Given the description of an element on the screen output the (x, y) to click on. 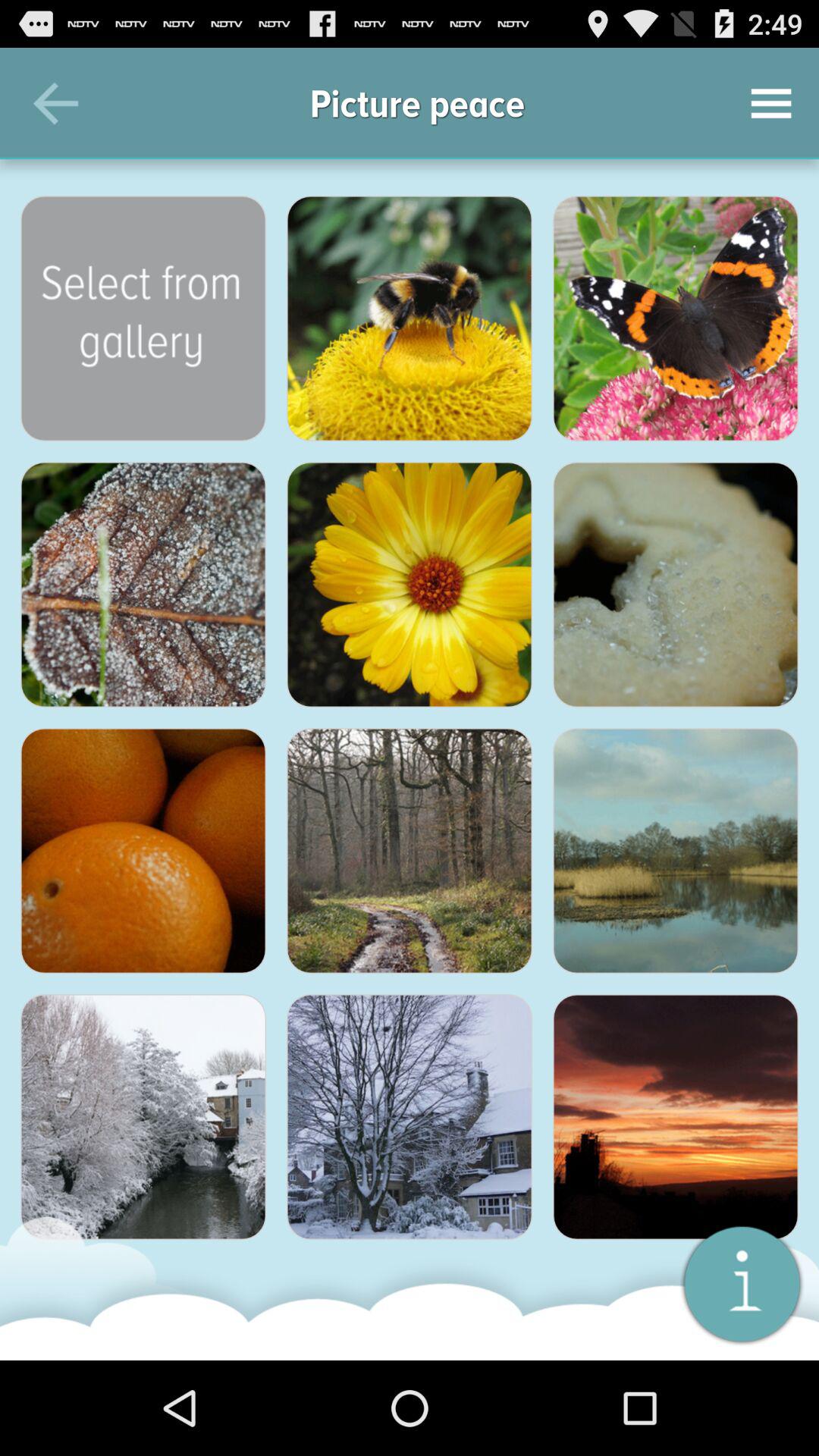
hit snowy house photo (409, 1116)
